Given the description of an element on the screen output the (x, y) to click on. 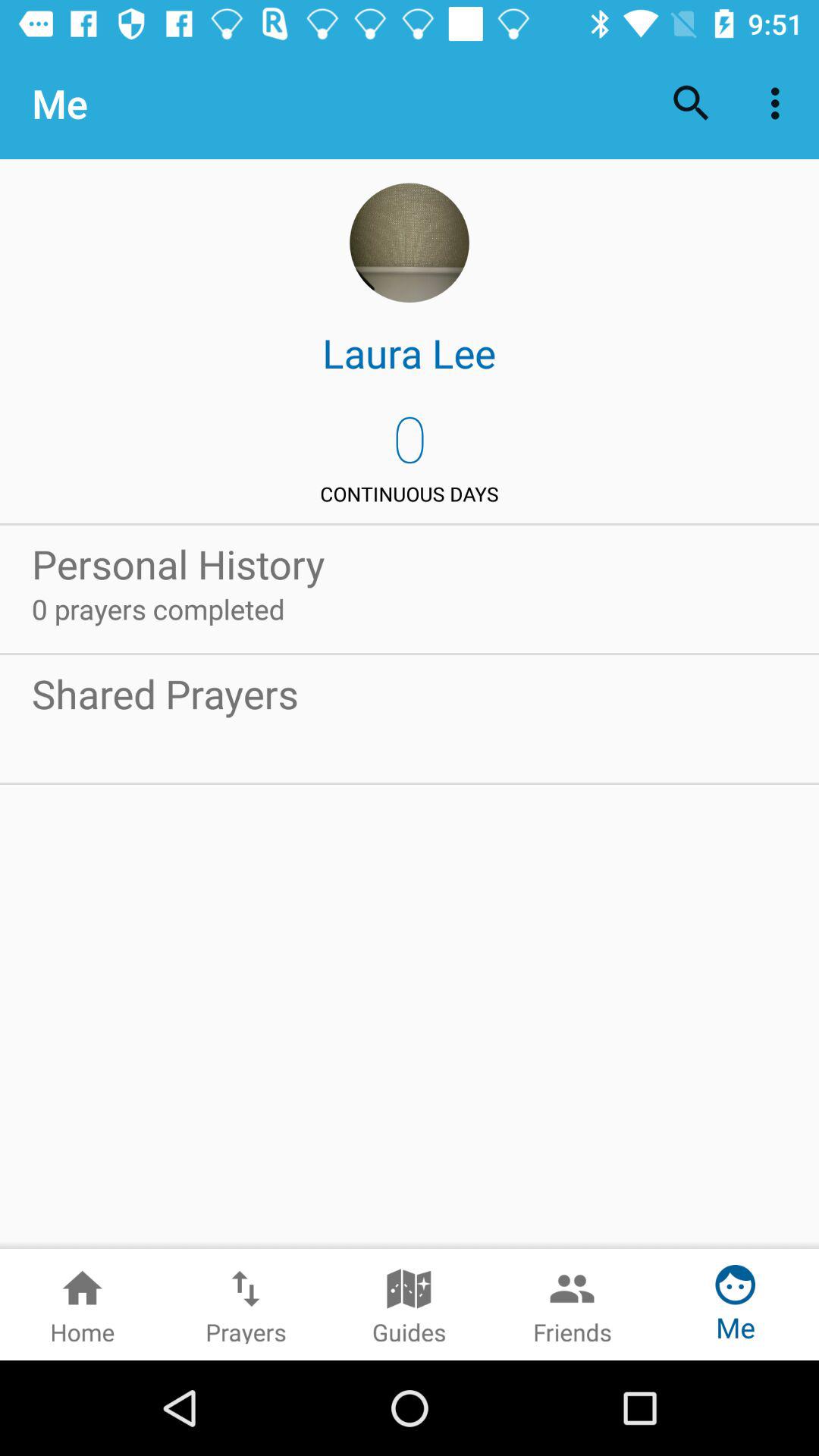
select the search icon (691, 103)
